Given the description of an element on the screen output the (x, y) to click on. 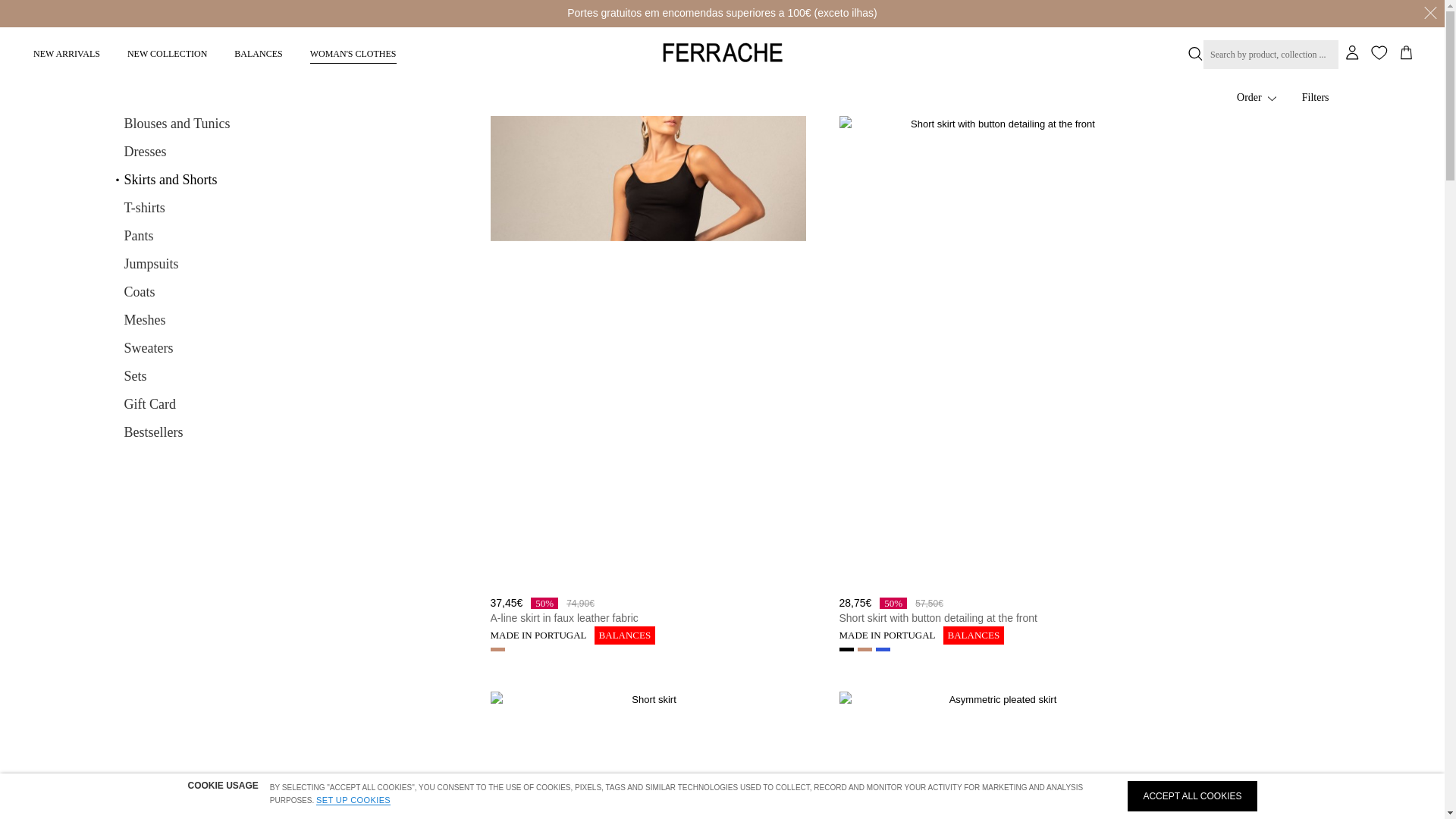
Woman's clothes (353, 51)
New arrivals (66, 51)
New collection (167, 51)
Ferrache (722, 52)
ACCEPT ALL COOKIES (1191, 796)
BALANCES (258, 51)
Wishlist (1378, 53)
Close (1430, 13)
Cart (1406, 53)
SET UP COOKIES (352, 800)
